Given the description of an element on the screen output the (x, y) to click on. 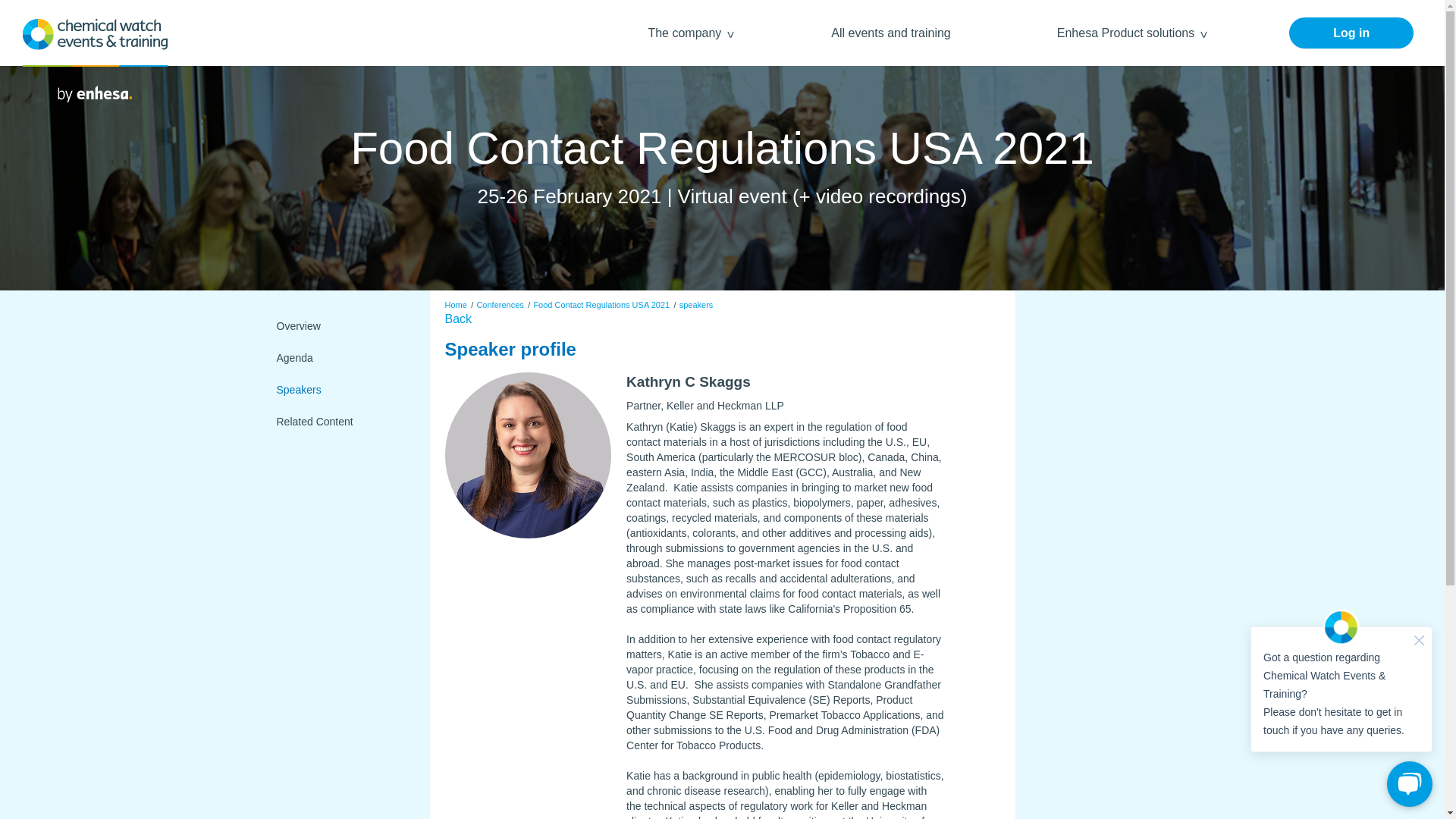
Speakers (340, 389)
Conferences (499, 304)
Agenda (340, 358)
Overview (340, 326)
The company (685, 32)
3rd party ad content (1101, 418)
Back (457, 318)
Home (454, 304)
All events and training (890, 32)
Food Contact Regulations USA 2021 (600, 304)
top navigation (71, 7)
speakers (696, 304)
Enhesa Product solutions (1127, 32)
Related Content (340, 421)
Log in (1350, 32)
